Given the description of an element on the screen output the (x, y) to click on. 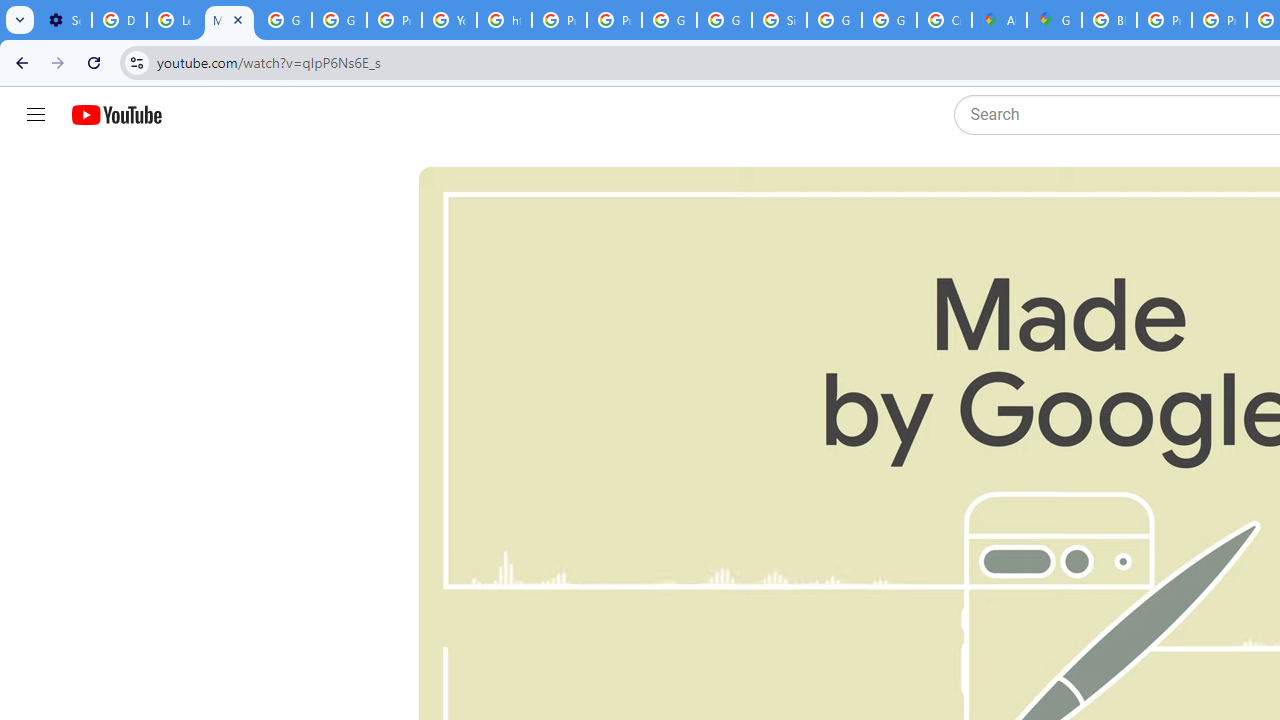
Guide (35, 115)
Delete photos & videos - Computer - Google Photos Help (119, 20)
Privacy Help Center - Policies Help (1218, 20)
Google Maps (1053, 20)
Google Account Help (284, 20)
Privacy Help Center - Policies Help (394, 20)
Privacy Help Center - Policies Help (559, 20)
Privacy Help Center - Policies Help (1163, 20)
Learn how to find your photos - Google Photos Help (174, 20)
